Given the description of an element on the screen output the (x, y) to click on. 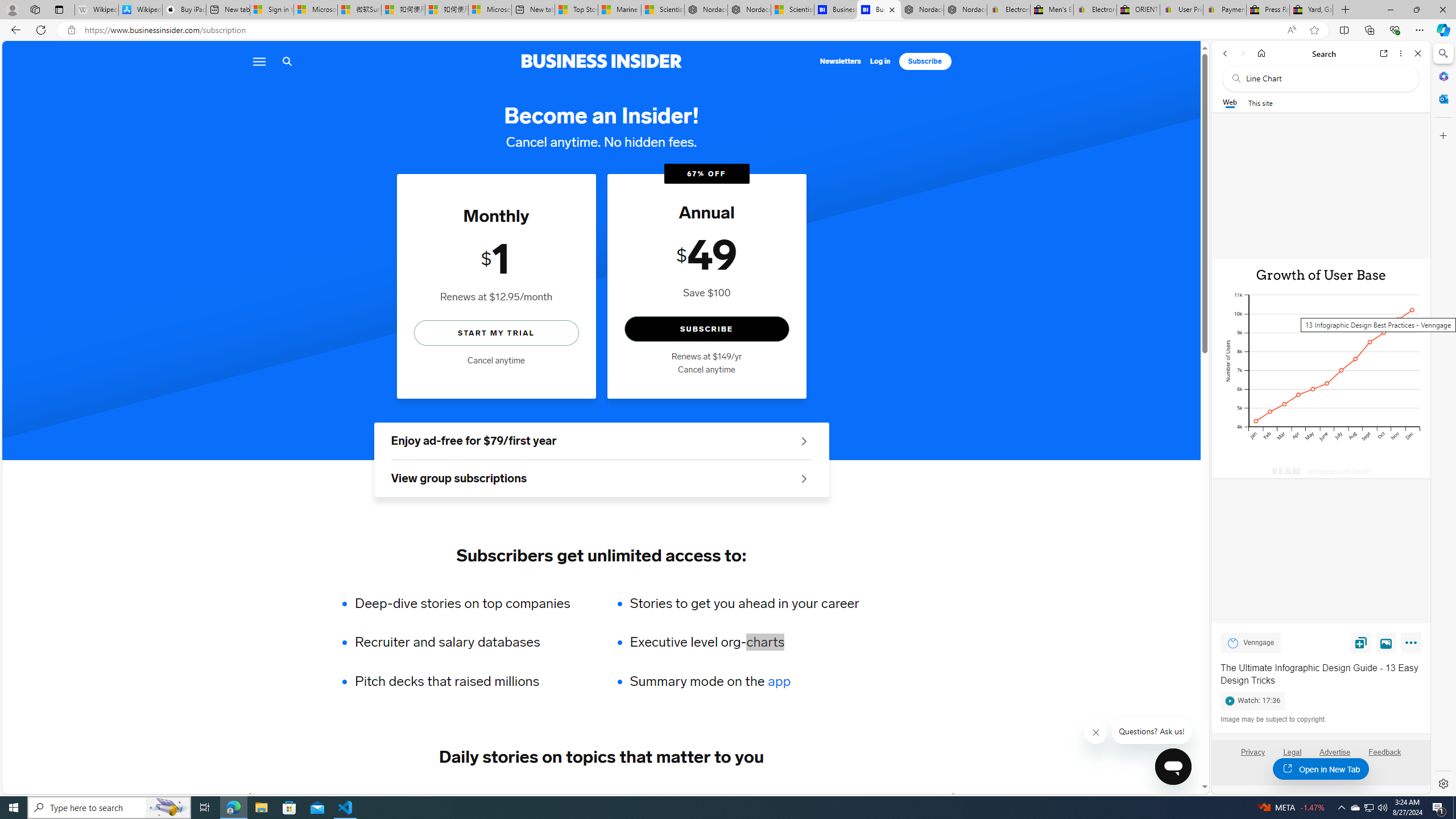
MEDIA (953, 796)
Venngage Venngage (1250, 642)
Summary mode on the app (743, 681)
Watch: 17:36 (1320, 698)
